Given the description of an element on the screen output the (x, y) to click on. 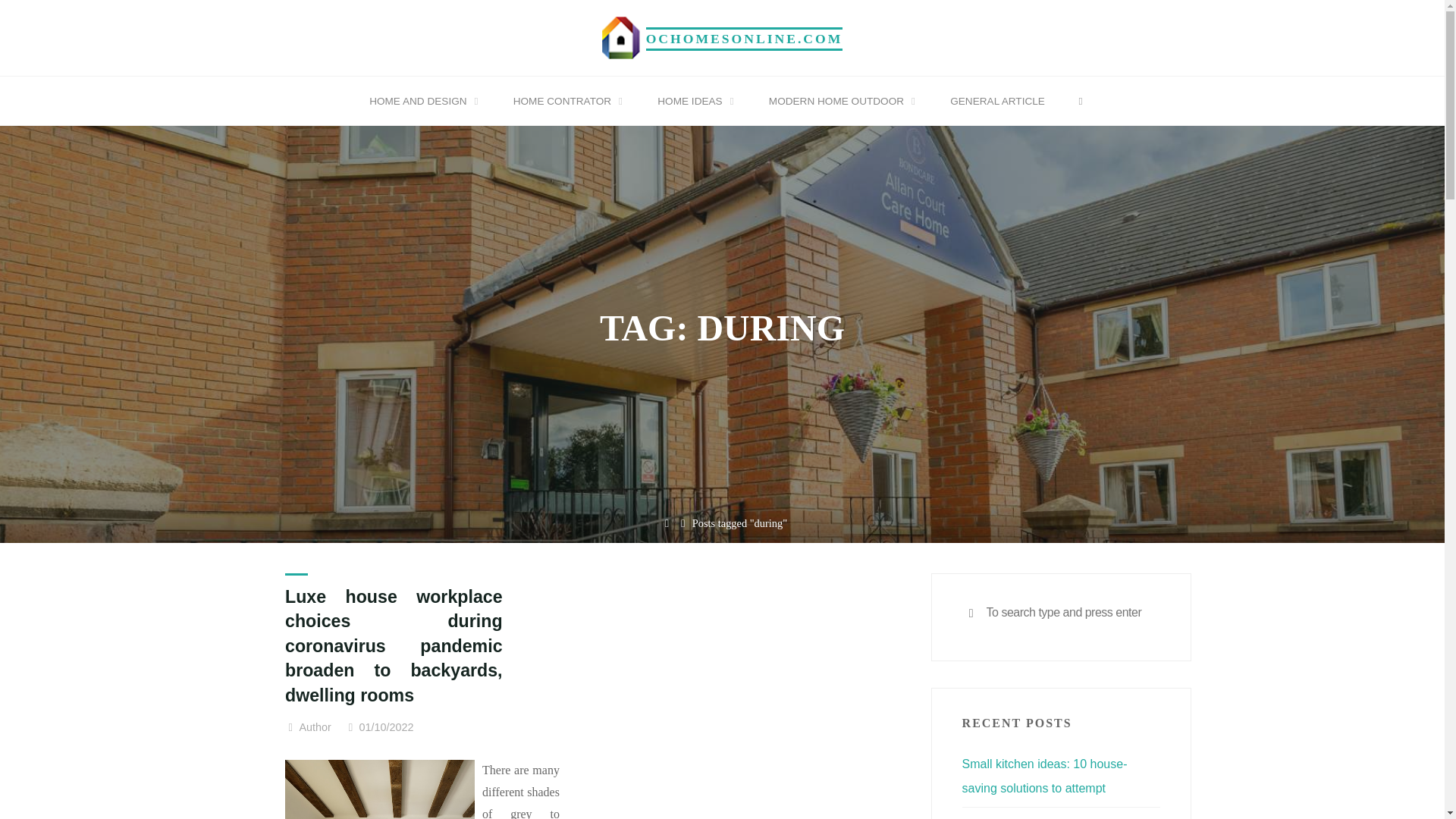
View all posts by Author (314, 727)
Home (667, 522)
OCHOMESONLINE.COM (744, 38)
HOME AND DESIGN (421, 101)
Improving Home Value (744, 38)
ochomesonline.com (621, 36)
